Given the description of an element on the screen output the (x, y) to click on. 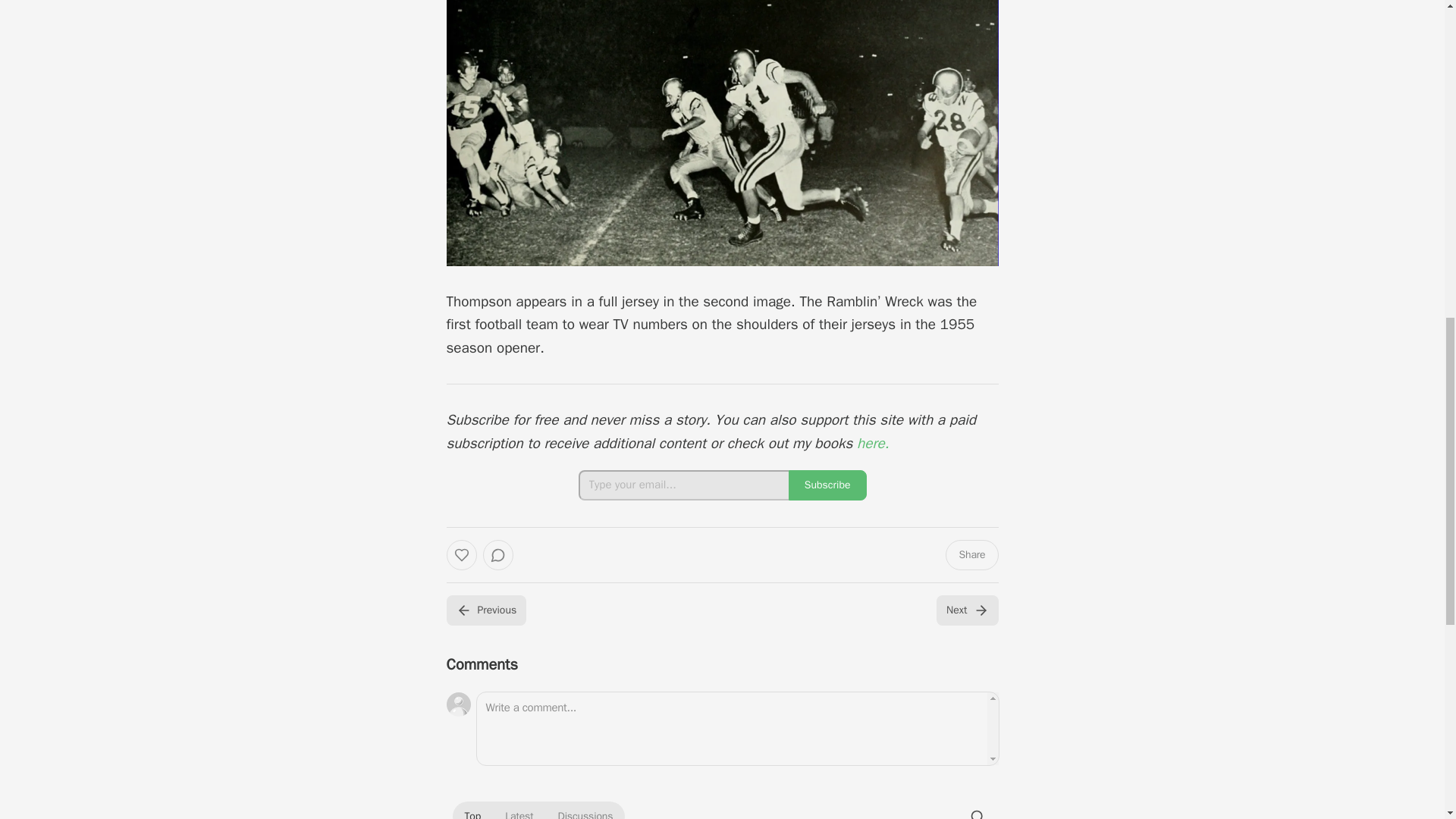
Top (471, 811)
Share (970, 554)
Next (966, 610)
here. (873, 443)
Subscribe (827, 485)
Previous (485, 610)
